Given the description of an element on the screen output the (x, y) to click on. 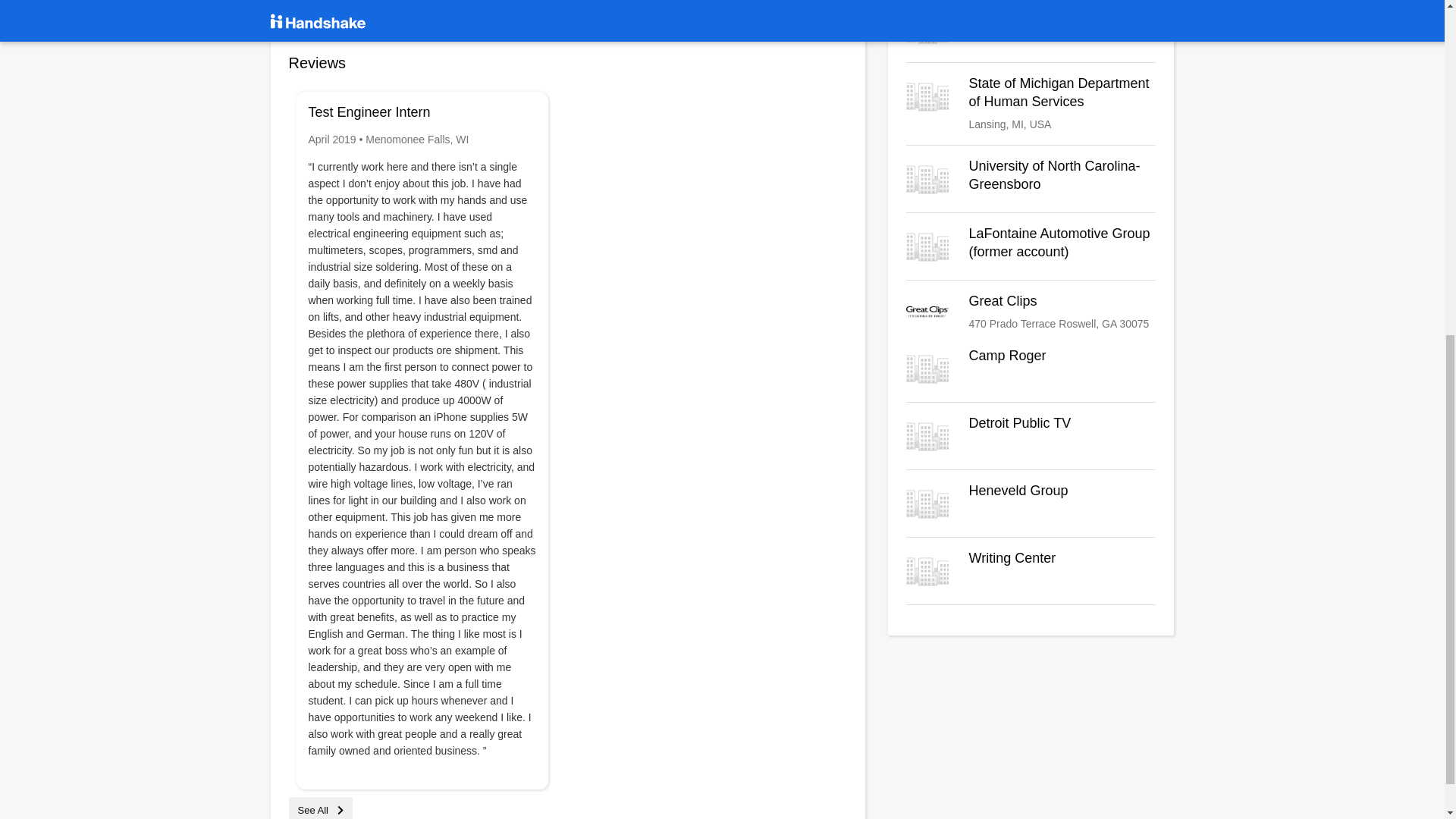
Detroit Public TV (1030, 435)
See All (320, 809)
Camp Roger (1030, 313)
Great Clips (1030, 368)
Detroit Public TV (1030, 313)
State of Michigan Department of Human Services (1030, 435)
Heneveld Group (1030, 103)
Heneveld Group (1030, 503)
Writing Center (1030, 503)
Writing Center (1030, 570)
Golf (1030, 570)
Golf (1030, 28)
Camp Roger (1030, 28)
